Given the description of an element on the screen output the (x, y) to click on. 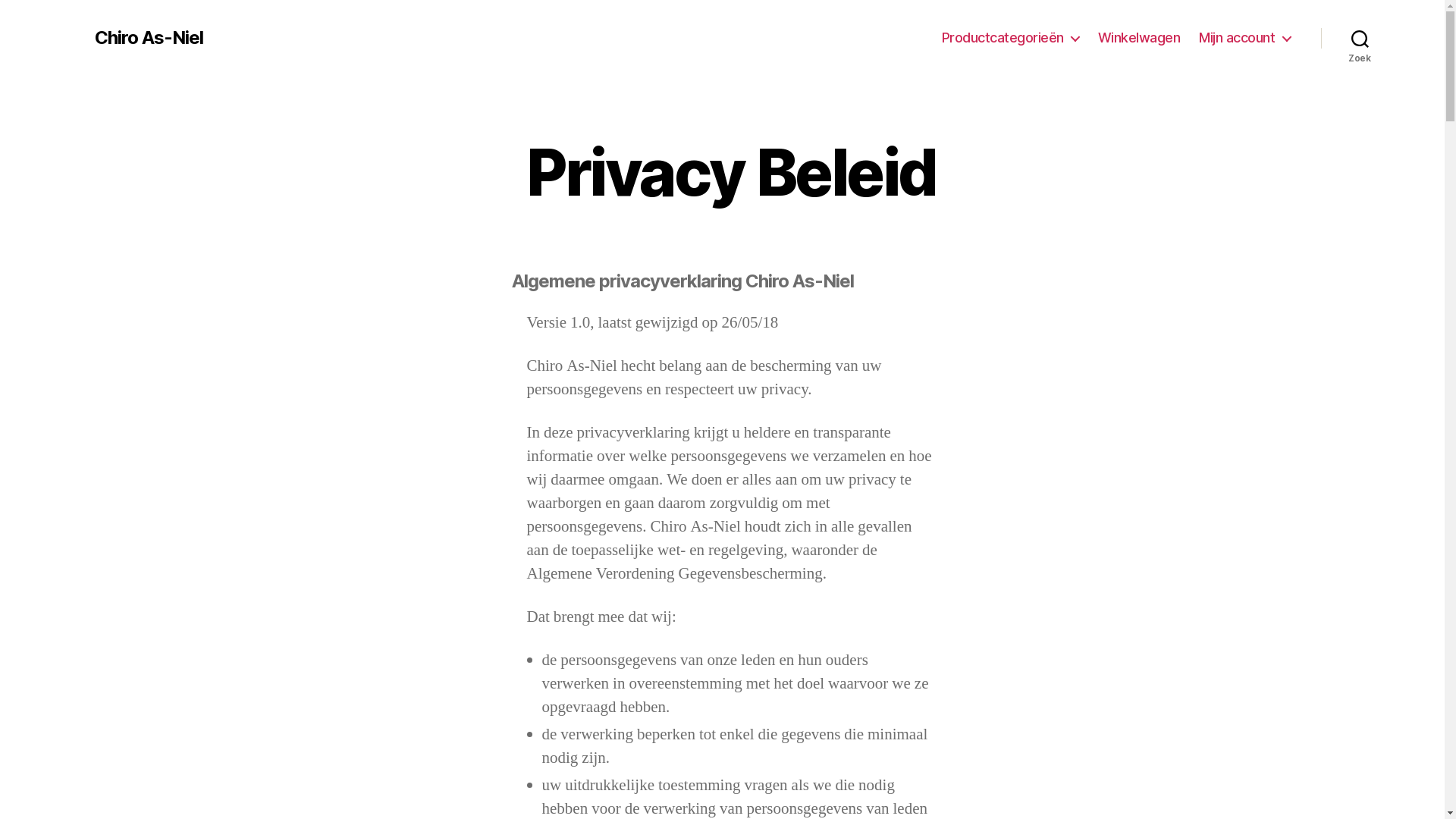
Zoek Element type: text (1360, 37)
Winkelwagen Element type: text (1139, 37)
Mijn account Element type: text (1243, 37)
Chiro As-Niel Element type: text (148, 37)
